Given the description of an element on the screen output the (x, y) to click on. 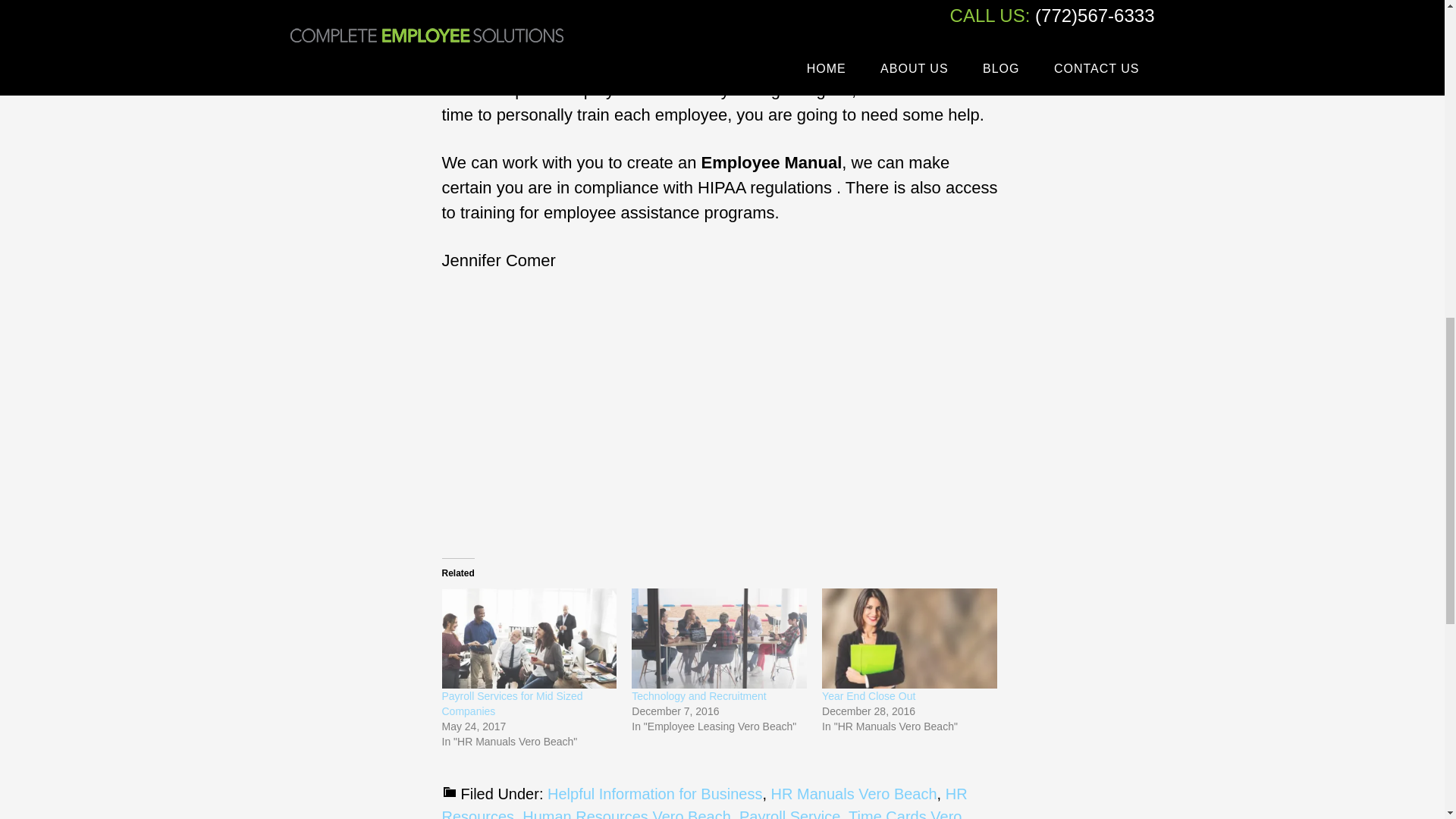
Payroll Services for Mid Sized Companies (511, 703)
Payroll Services Time Cards Human resources (554, 409)
Year End Close Out (909, 638)
Time Cards Vero Beach (700, 813)
Year End Close Out (868, 695)
Technology and Recruitment (698, 695)
Technology and Recruitment (718, 638)
Payroll Services for Mid Sized Companies (511, 703)
Human Resources Vero Beach (626, 813)
HR Manuals Vero Beach (854, 793)
